Given the description of an element on the screen output the (x, y) to click on. 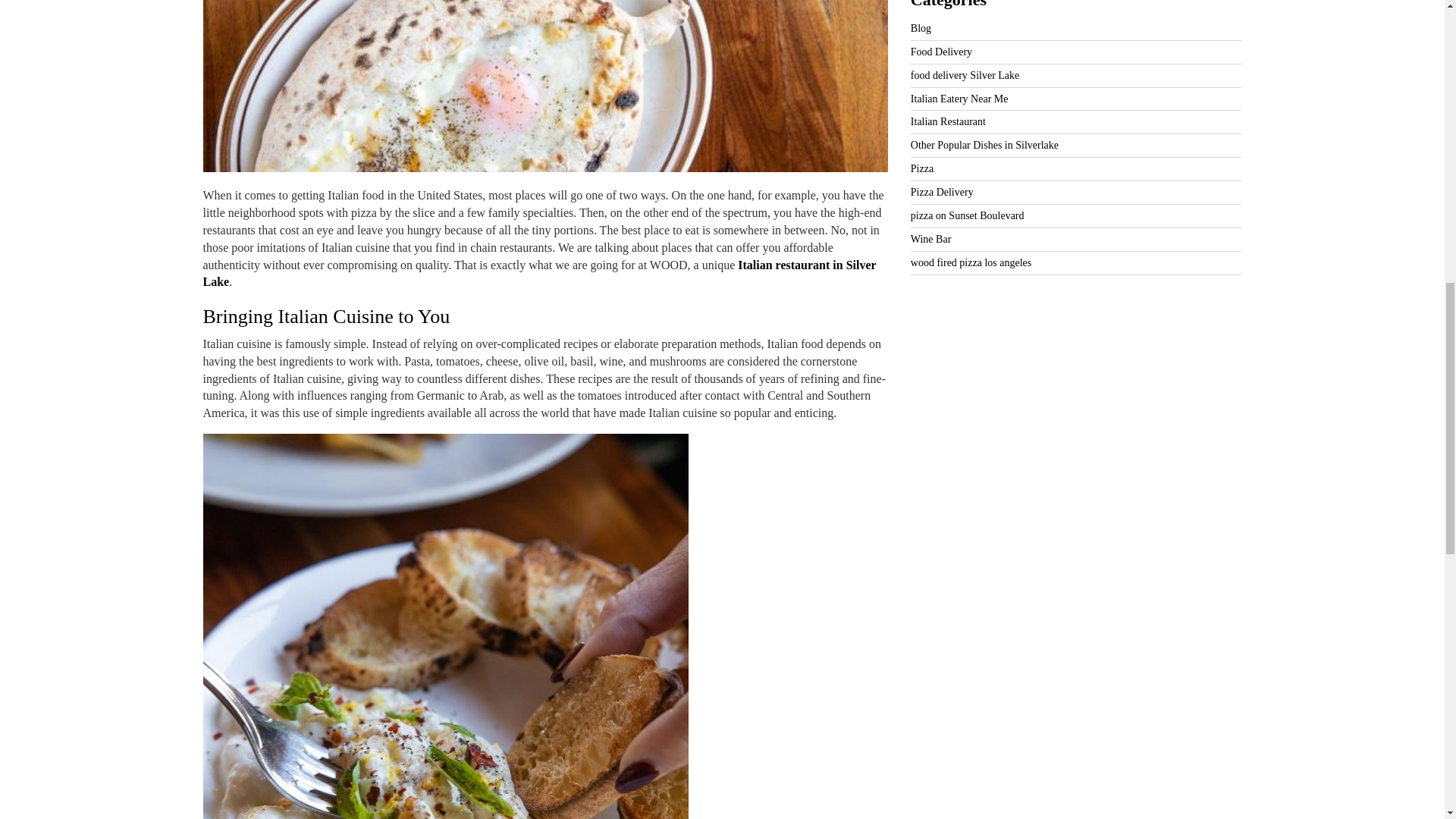
Food Delivery (941, 51)
food delivery Silver Lake (965, 75)
Blog (921, 28)
Italian Eatery Near Me (960, 98)
Italian Restaurant (948, 121)
Italian restaurant in Silver Lake (539, 273)
